Given the description of an element on the screen output the (x, y) to click on. 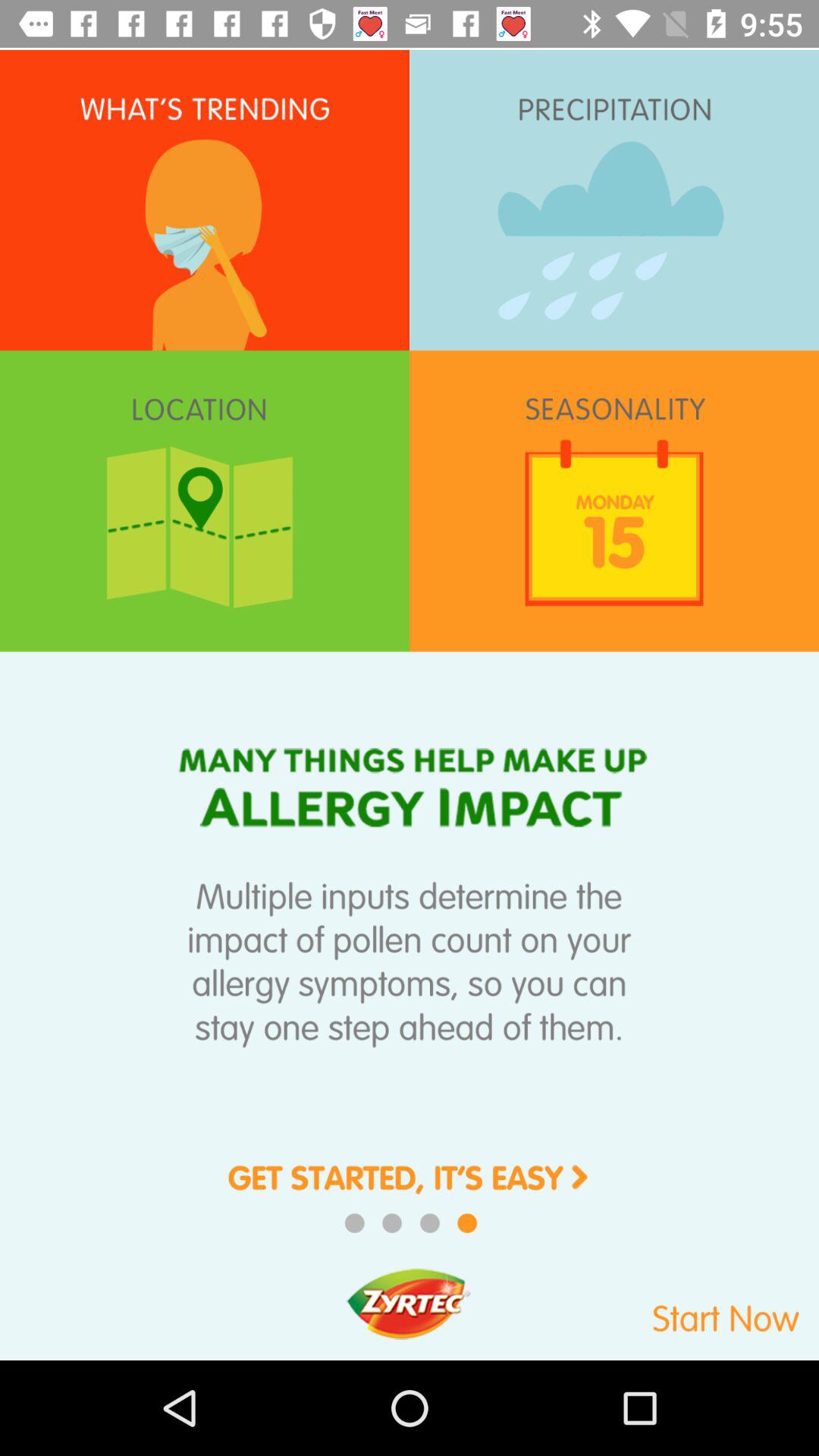
start using the app (669, 1310)
